Given the description of an element on the screen output the (x, y) to click on. 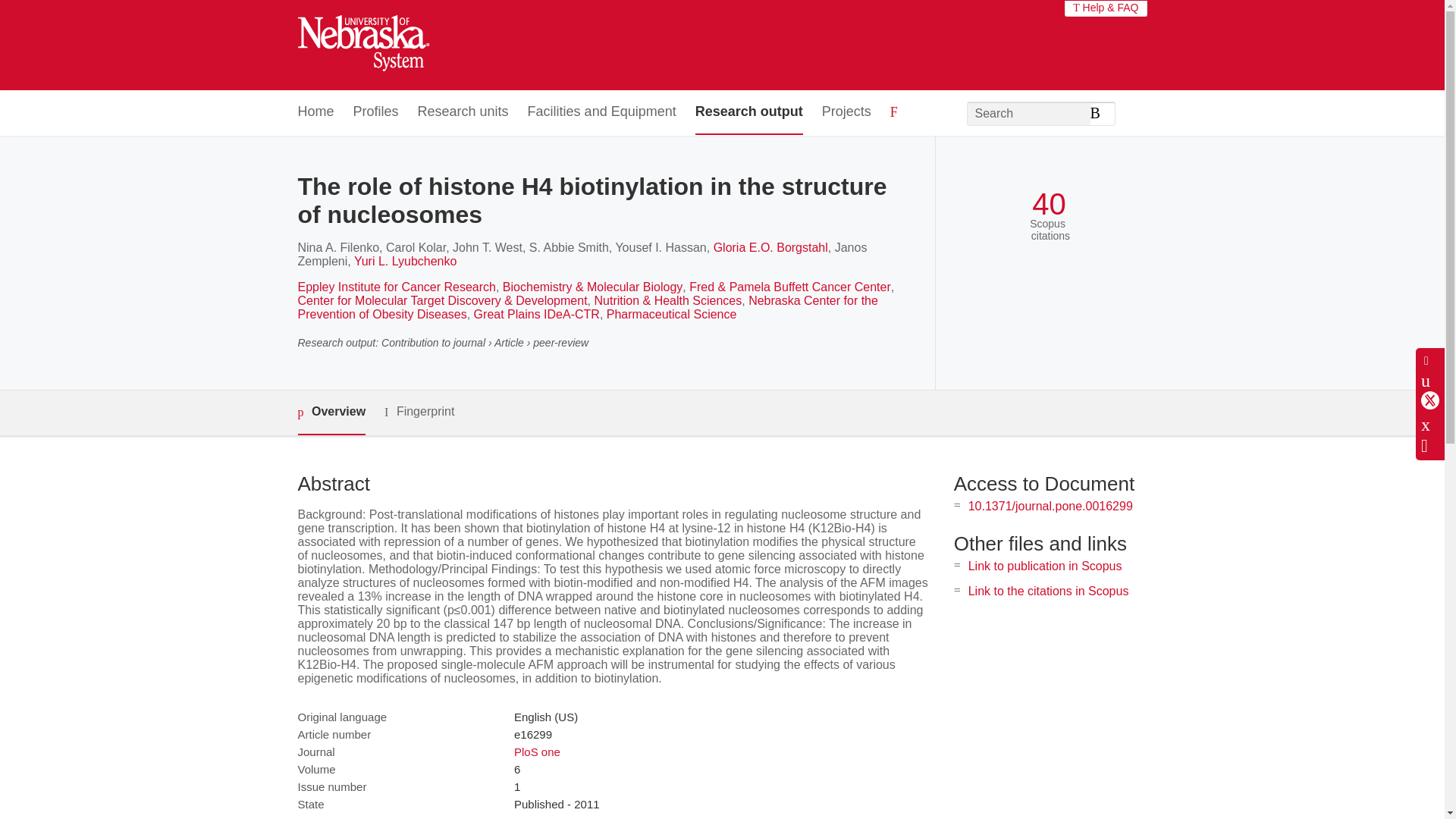
Projects (846, 112)
Gloria E.O. Borgstahl (770, 246)
Profiles (375, 112)
Great Plains IDeA-CTR (536, 314)
40 (1048, 203)
Pharmaceutical Science (671, 314)
PloS one (536, 751)
Facilities and Equipment (602, 112)
Eppley Institute for Cancer Research (396, 286)
Research Nebraska Home (363, 45)
Yuri L. Lyubchenko (405, 260)
Link to publication in Scopus (1045, 565)
Fingerprint (419, 412)
Research output (749, 112)
